Given the description of an element on the screen output the (x, y) to click on. 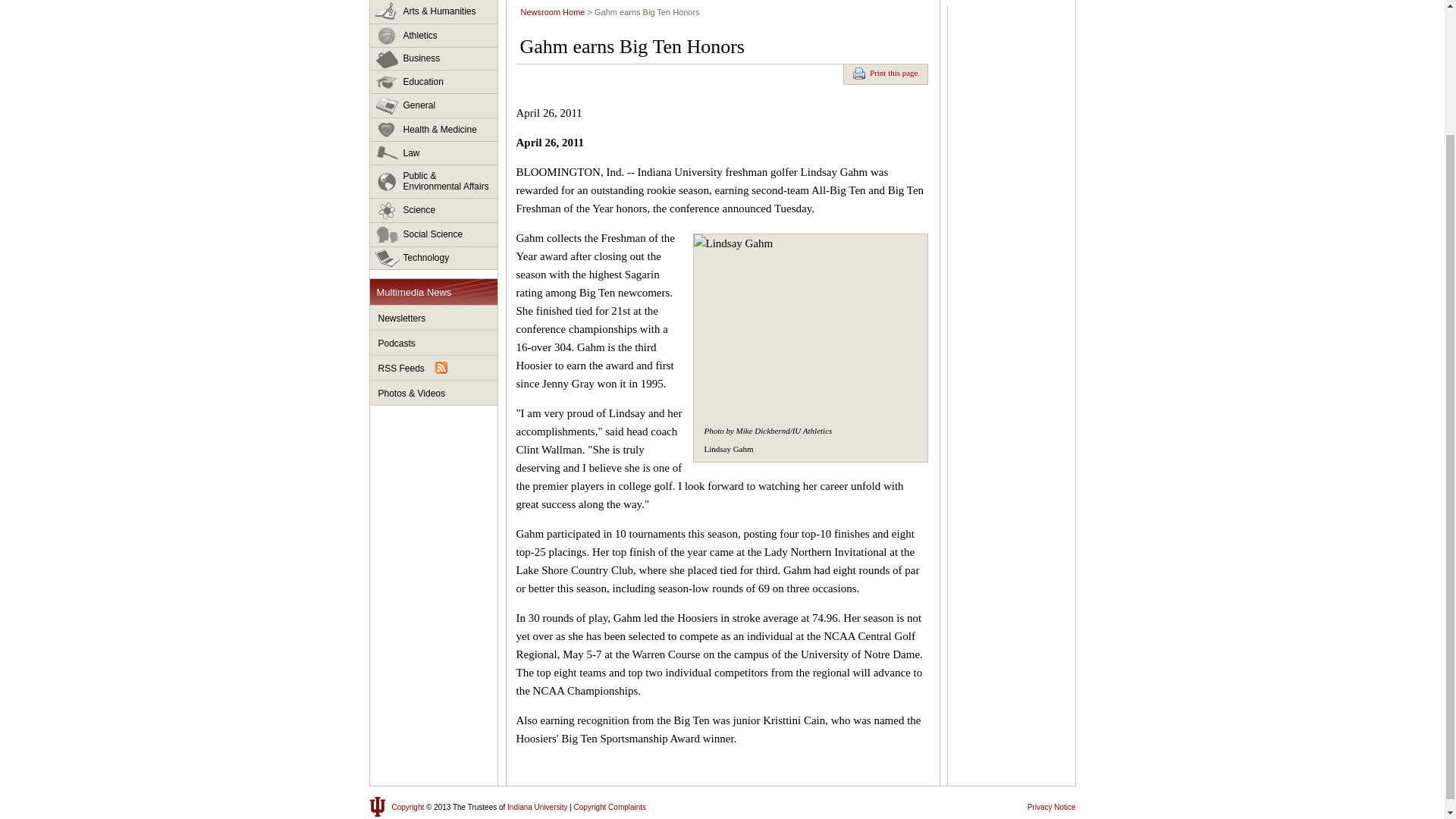
Podcasts (433, 342)
Business (433, 58)
Newsletters (433, 317)
Education (433, 82)
Business (433, 58)
Education (433, 82)
RSS Feeds (433, 367)
Athletics (433, 35)
Athletics (433, 35)
Law (433, 153)
